Given the description of an element on the screen output the (x, y) to click on. 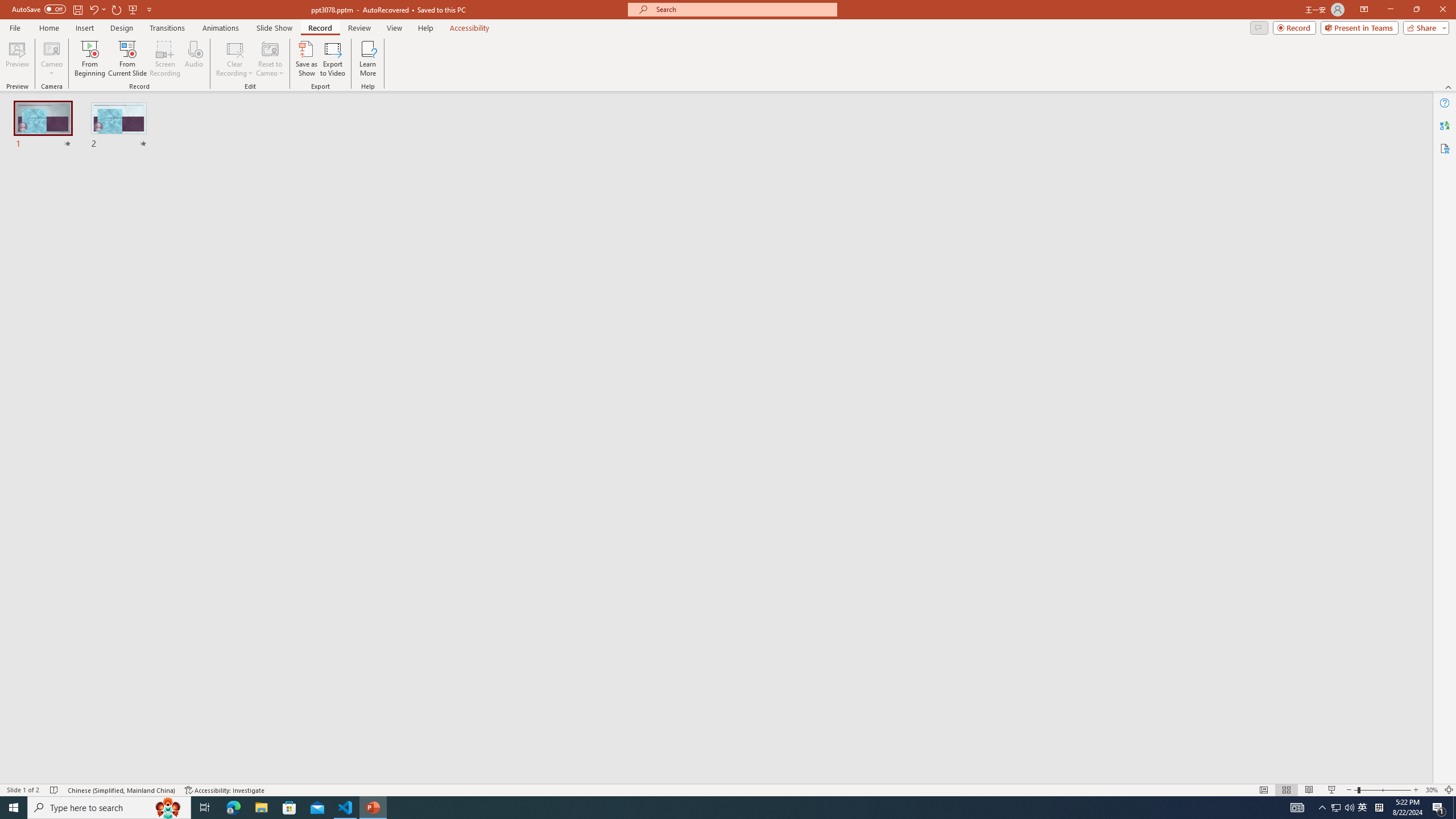
Audio (193, 58)
Reset to Cameo (269, 58)
